Given the description of an element on the screen output the (x, y) to click on. 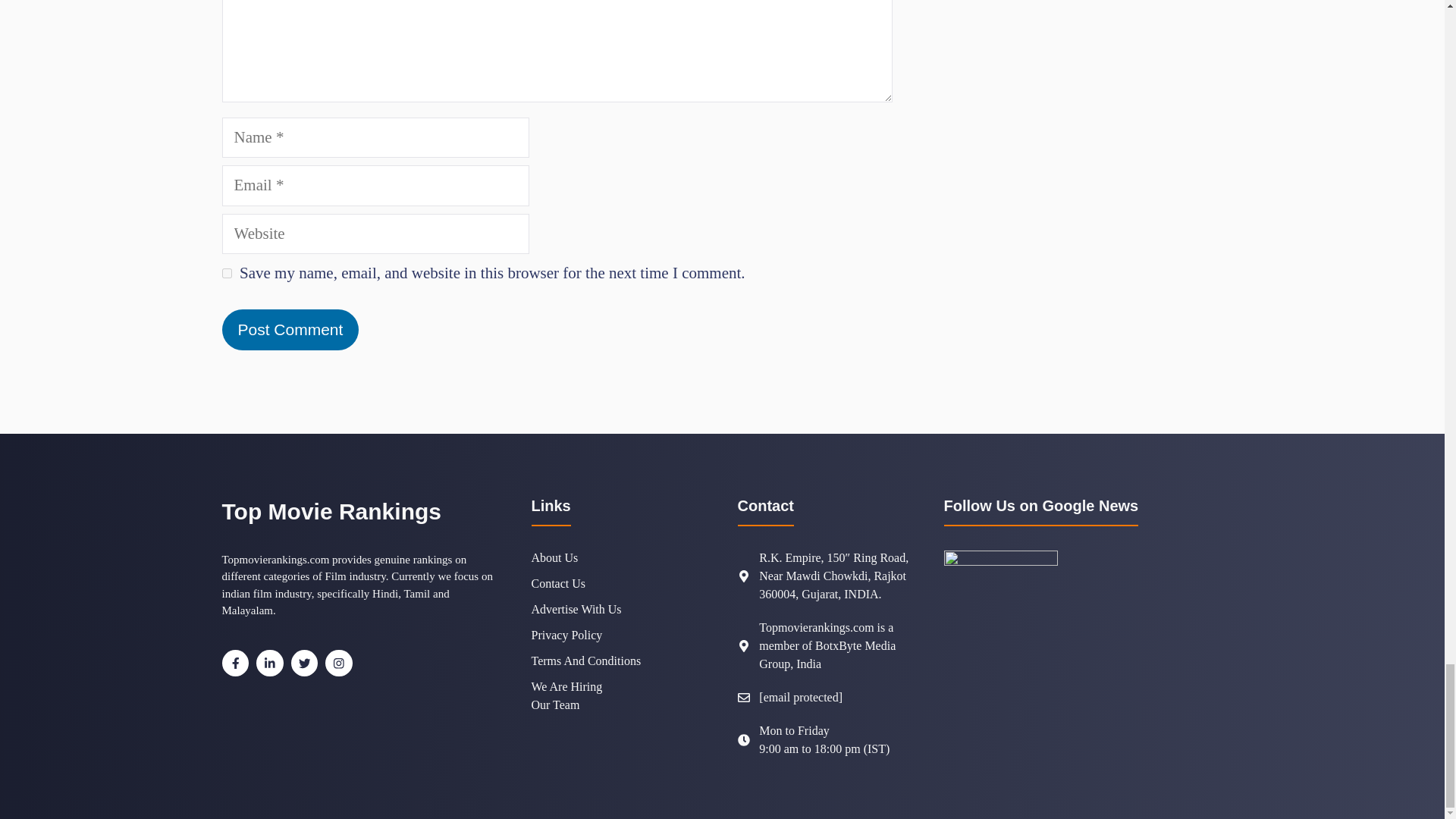
yes (226, 273)
Post Comment (289, 329)
